Given the description of an element on the screen output the (x, y) to click on. 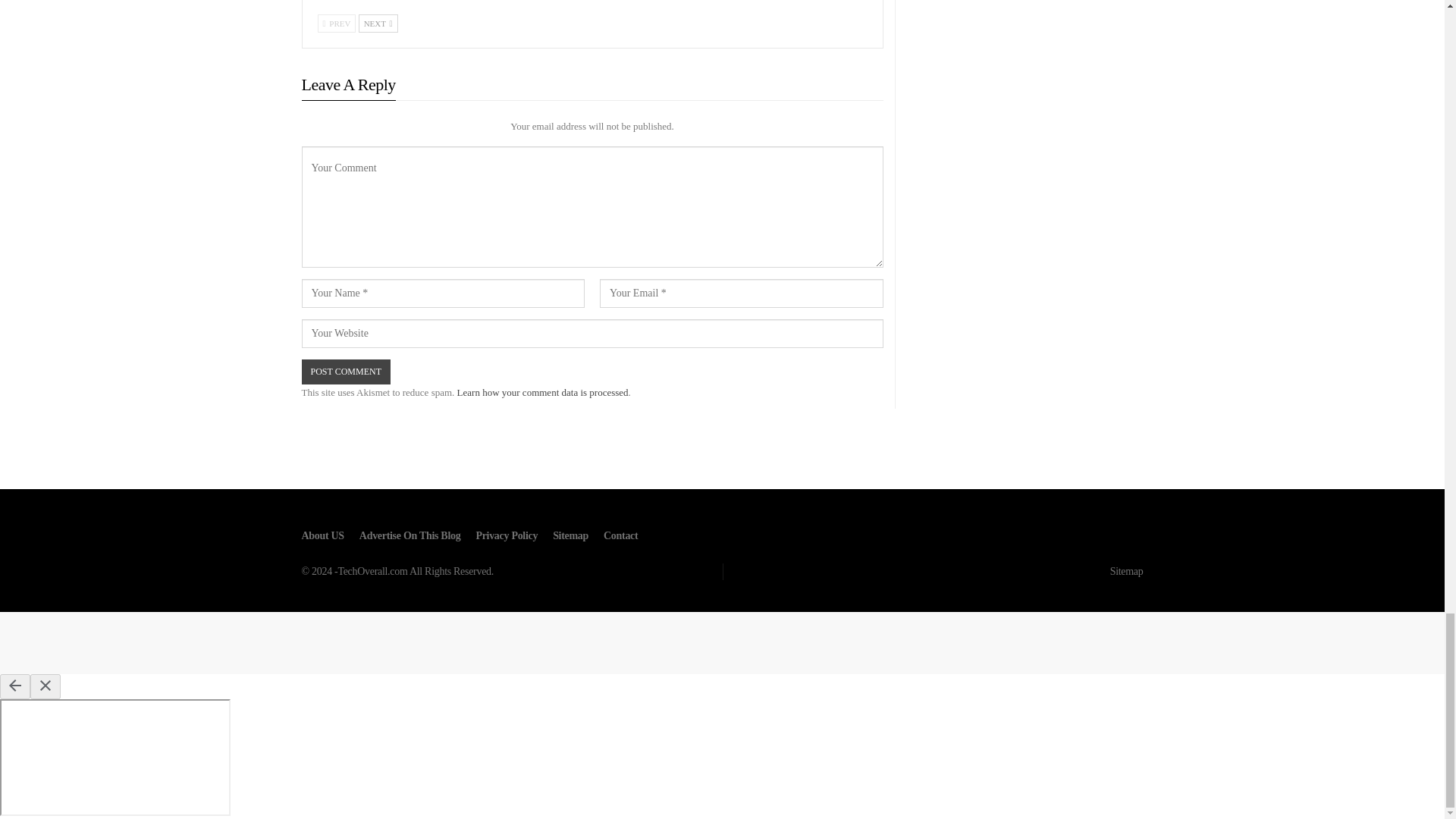
Post Comment (345, 371)
